Given the description of an element on the screen output the (x, y) to click on. 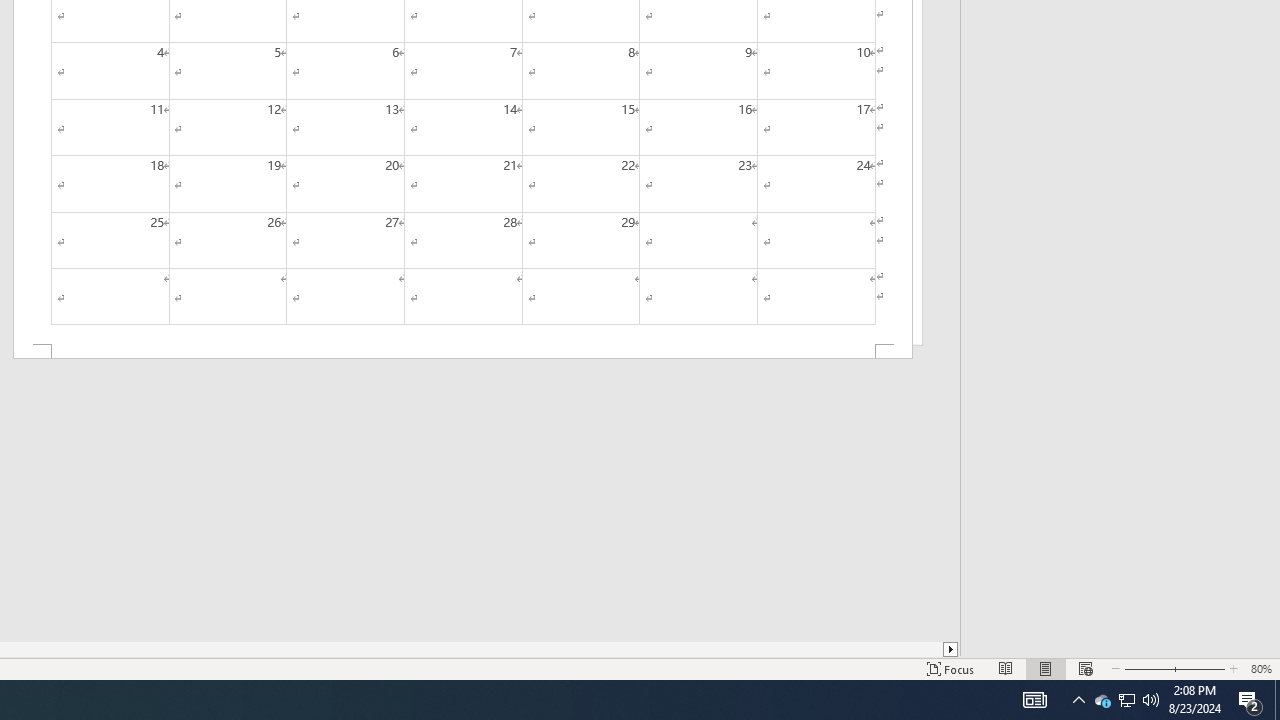
Read Mode (1005, 668)
Focus  (951, 668)
Footer -Section 2- (462, 351)
Zoom In (1195, 668)
Print Layout (1046, 668)
Zoom Out (1143, 668)
Web Layout (1085, 668)
Column right (951, 649)
